Given the description of an element on the screen output the (x, y) to click on. 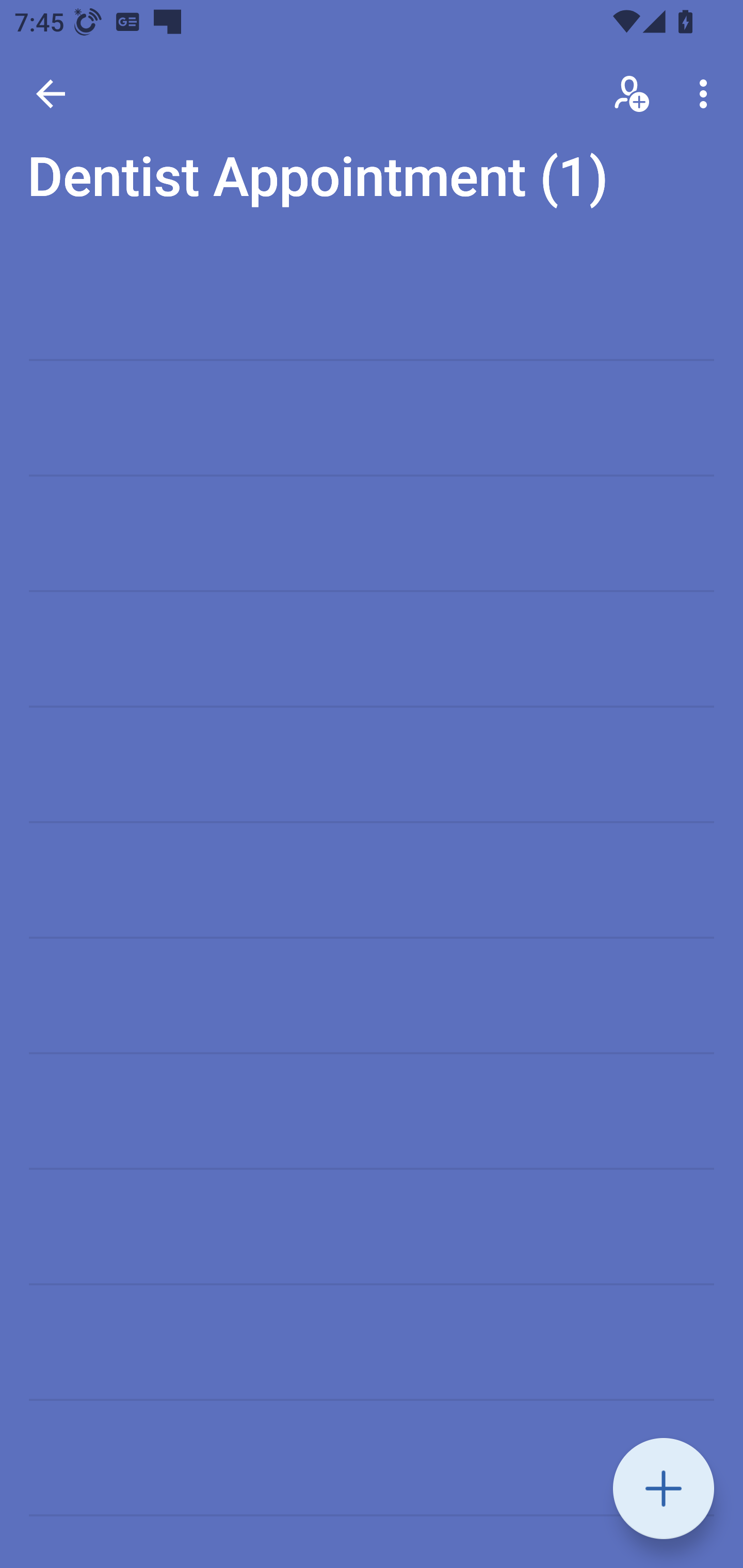
Back (50, 93)
Share list (632, 93)
More options (706, 93)
Add a task (663, 1488)
